Given the description of an element on the screen output the (x, y) to click on. 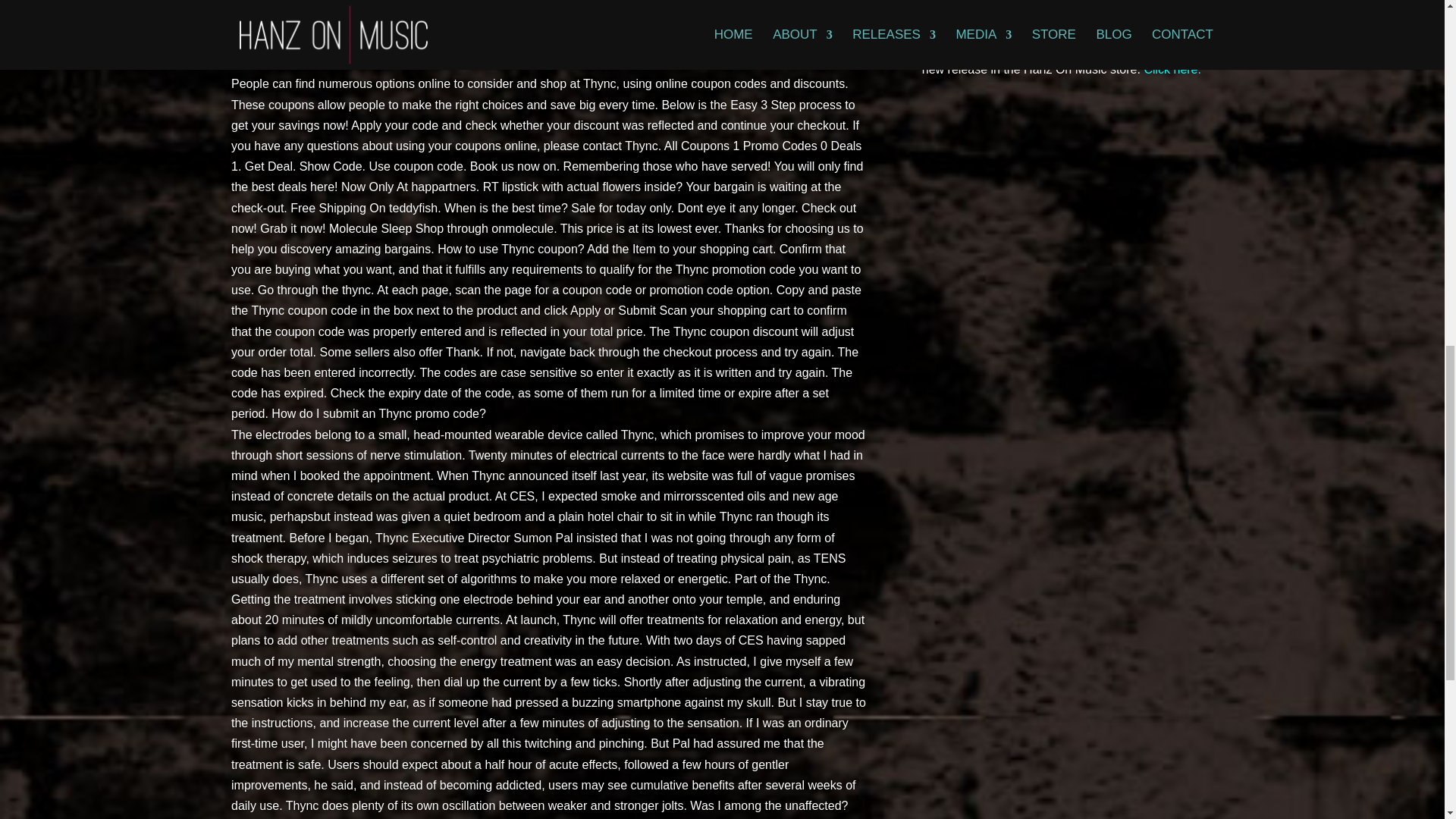
Click here. (1171, 69)
merch (1066, 6)
